Given the description of an element on the screen output the (x, y) to click on. 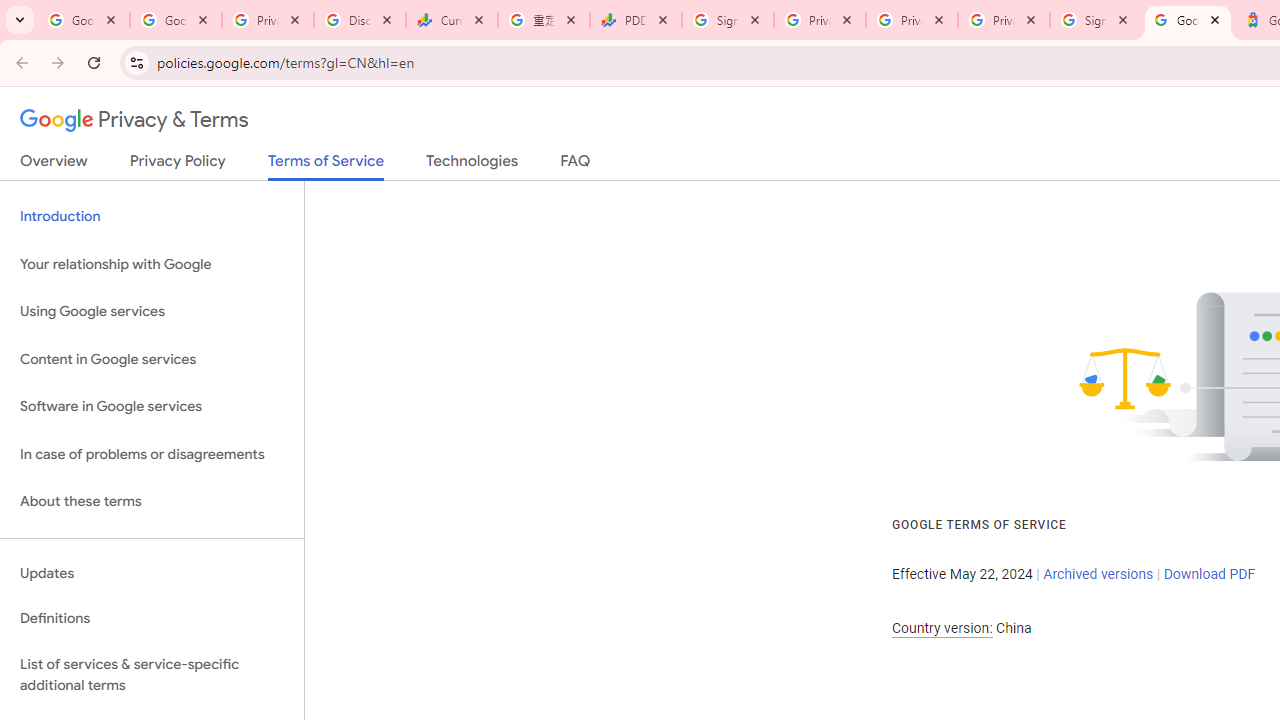
Google Workspace Admin Community (83, 20)
Privacy Checkup (1003, 20)
PDD Holdings Inc - ADR (PDD) Price & News - Google Finance (636, 20)
Using Google services (152, 312)
Content in Google services (152, 358)
Country version: (942, 628)
Archived versions (1098, 574)
